Given the description of an element on the screen output the (x, y) to click on. 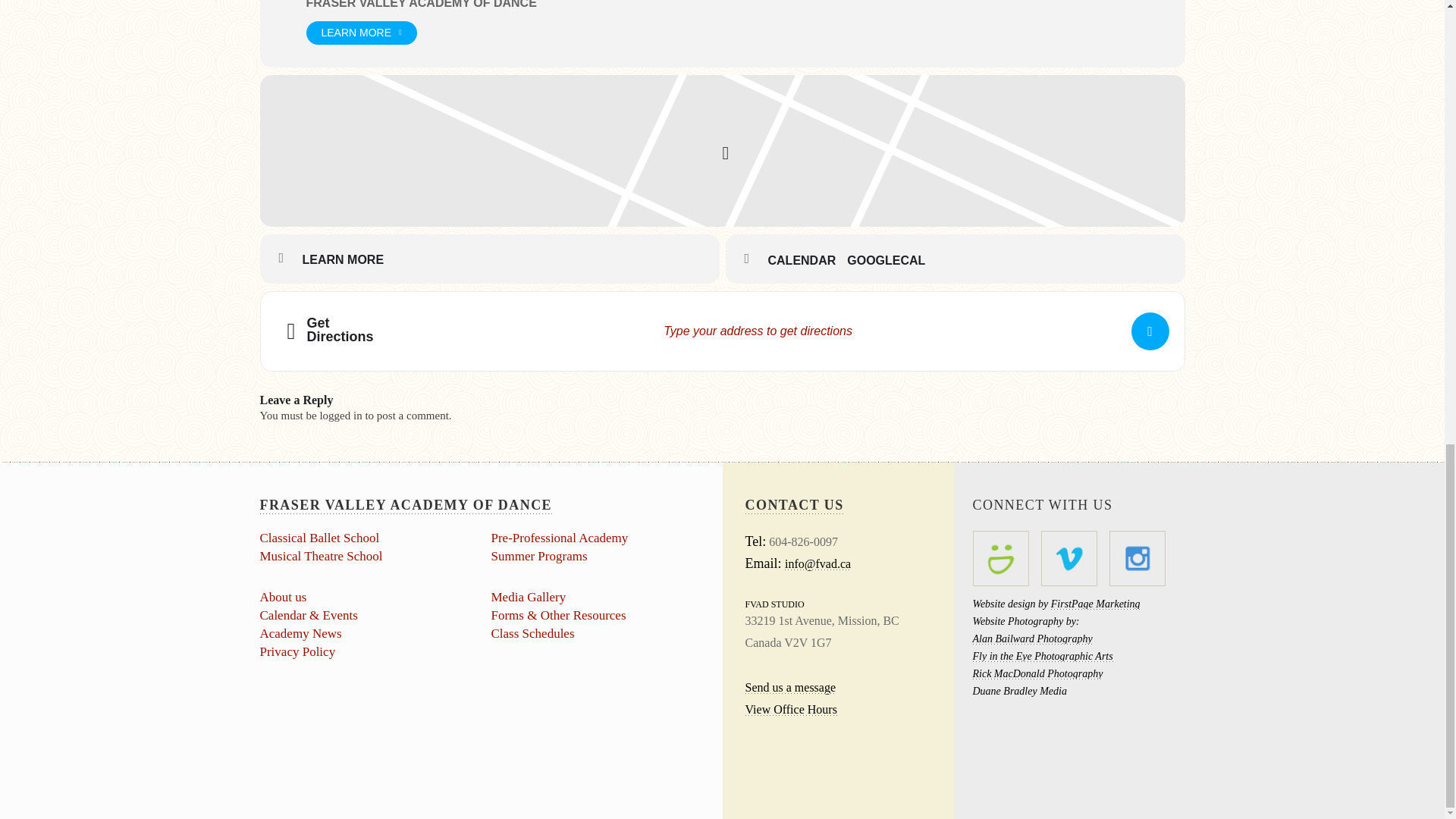
Click here to get directions (1150, 331)
Add to google calendar (891, 260)
Add to your calendar (807, 260)
Summer Programs (540, 555)
Pre-Professional Academy (560, 537)
Classical Ballet School (318, 537)
